Given the description of an element on the screen output the (x, y) to click on. 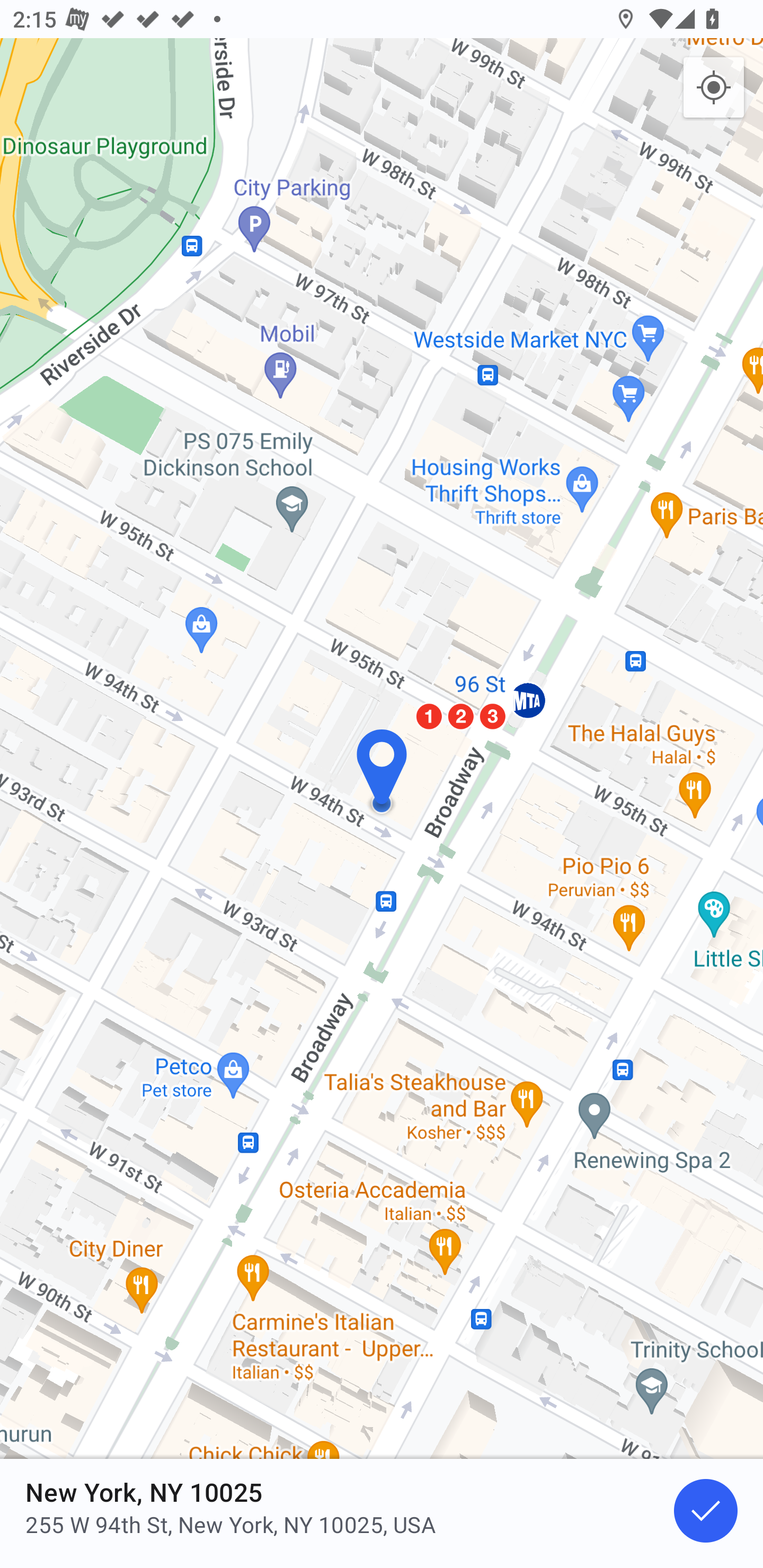
Accept address (705, 1510)
